Given the description of an element on the screen output the (x, y) to click on. 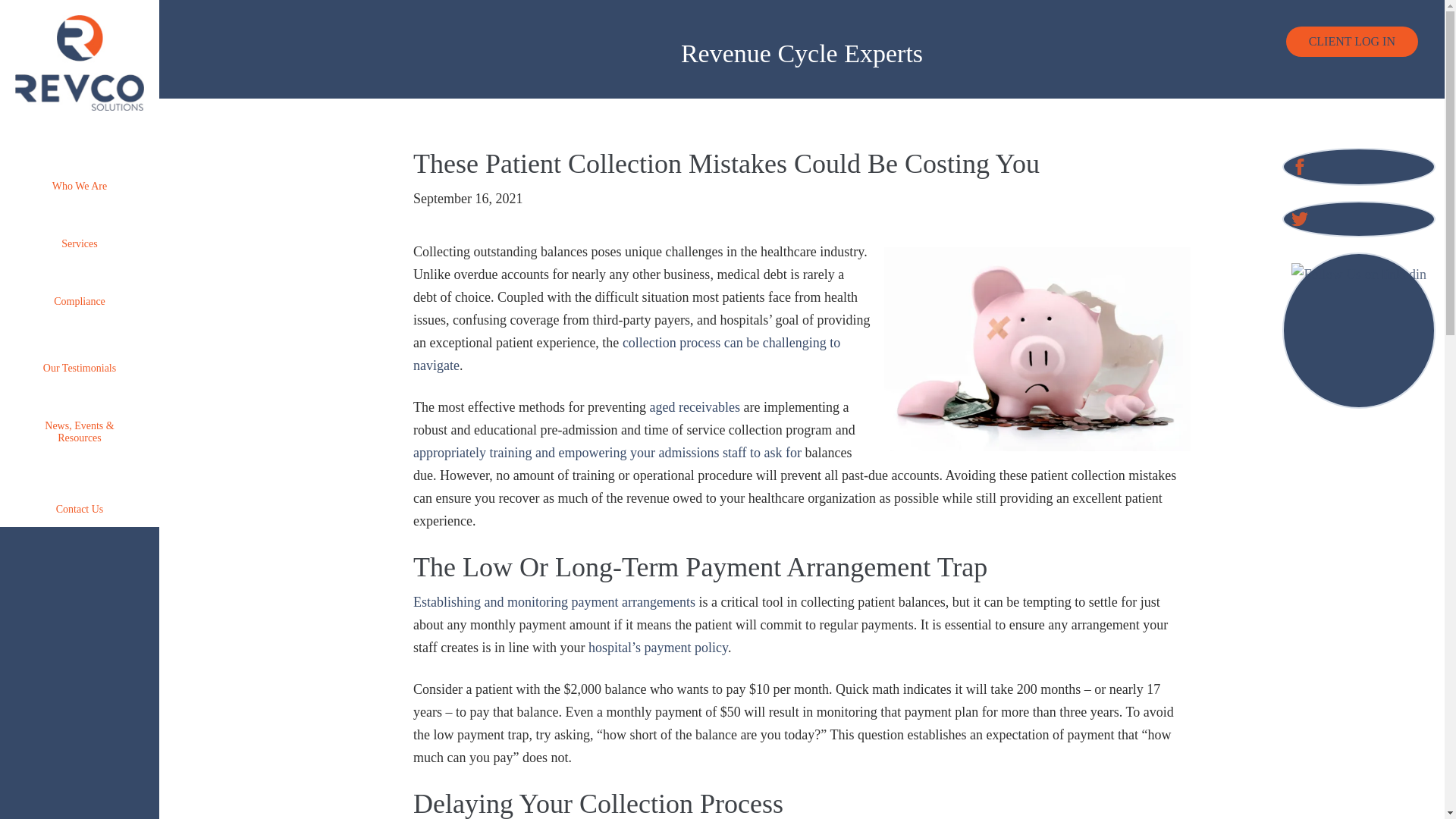
Our Testimonials (79, 346)
aged receivables (694, 406)
Contact Us (79, 485)
CLIENT LOG IN (1351, 41)
Compliance (79, 284)
collection process can be challenging to navigate (626, 353)
Follow Us on linkedin (1358, 330)
Services (79, 226)
Follow Us on facebook (1299, 166)
Establishing and monitoring payment arrangements (554, 601)
